Given the description of an element on the screen output the (x, y) to click on. 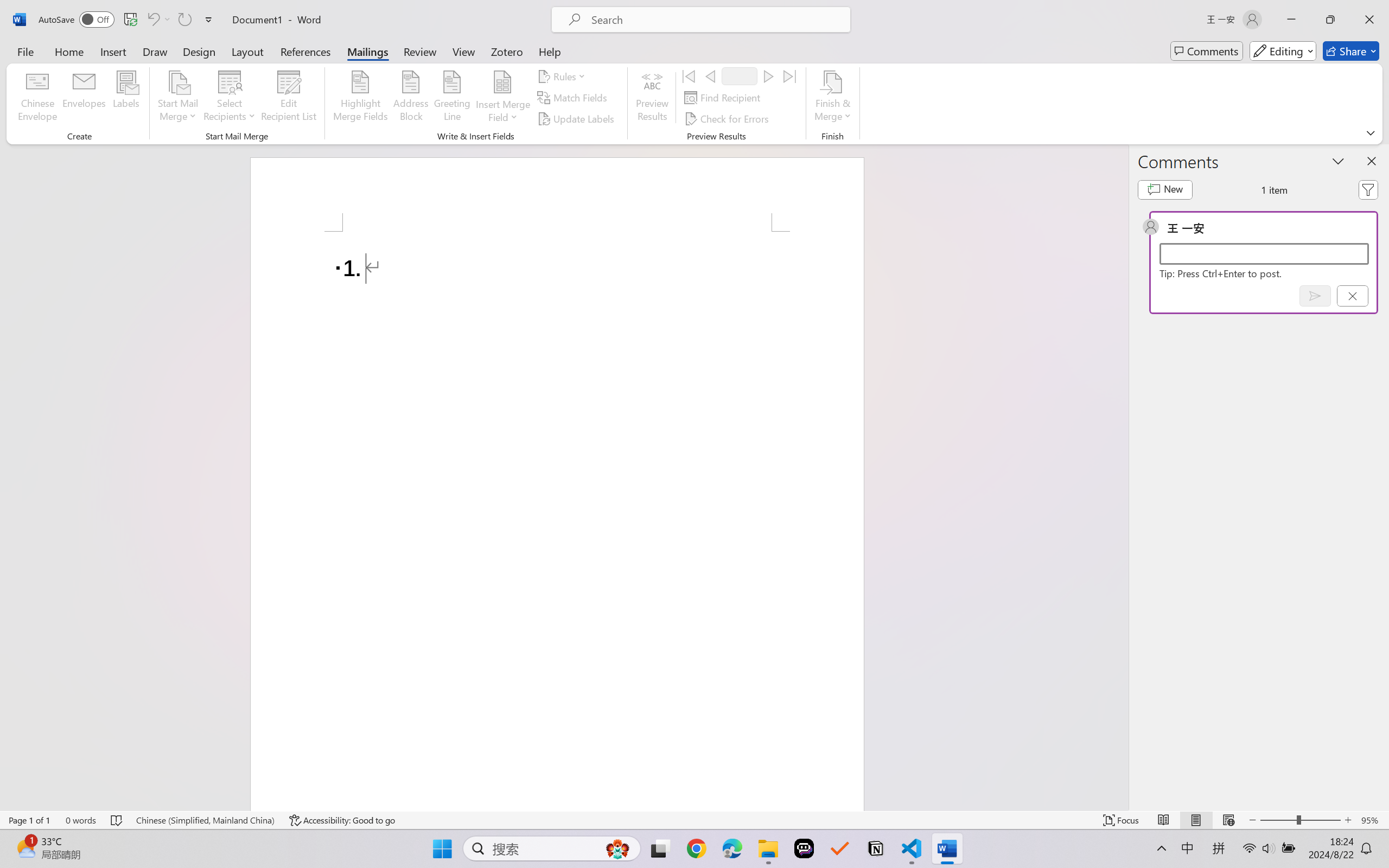
Edit Recipient List... (288, 97)
Zoom 95% (1372, 819)
Address Block... (410, 97)
Rules (563, 75)
Envelopes... (84, 97)
Check for Errors... (728, 118)
Post comment (Ctrl + Enter) (1315, 295)
